Given the description of an element on the screen output the (x, y) to click on. 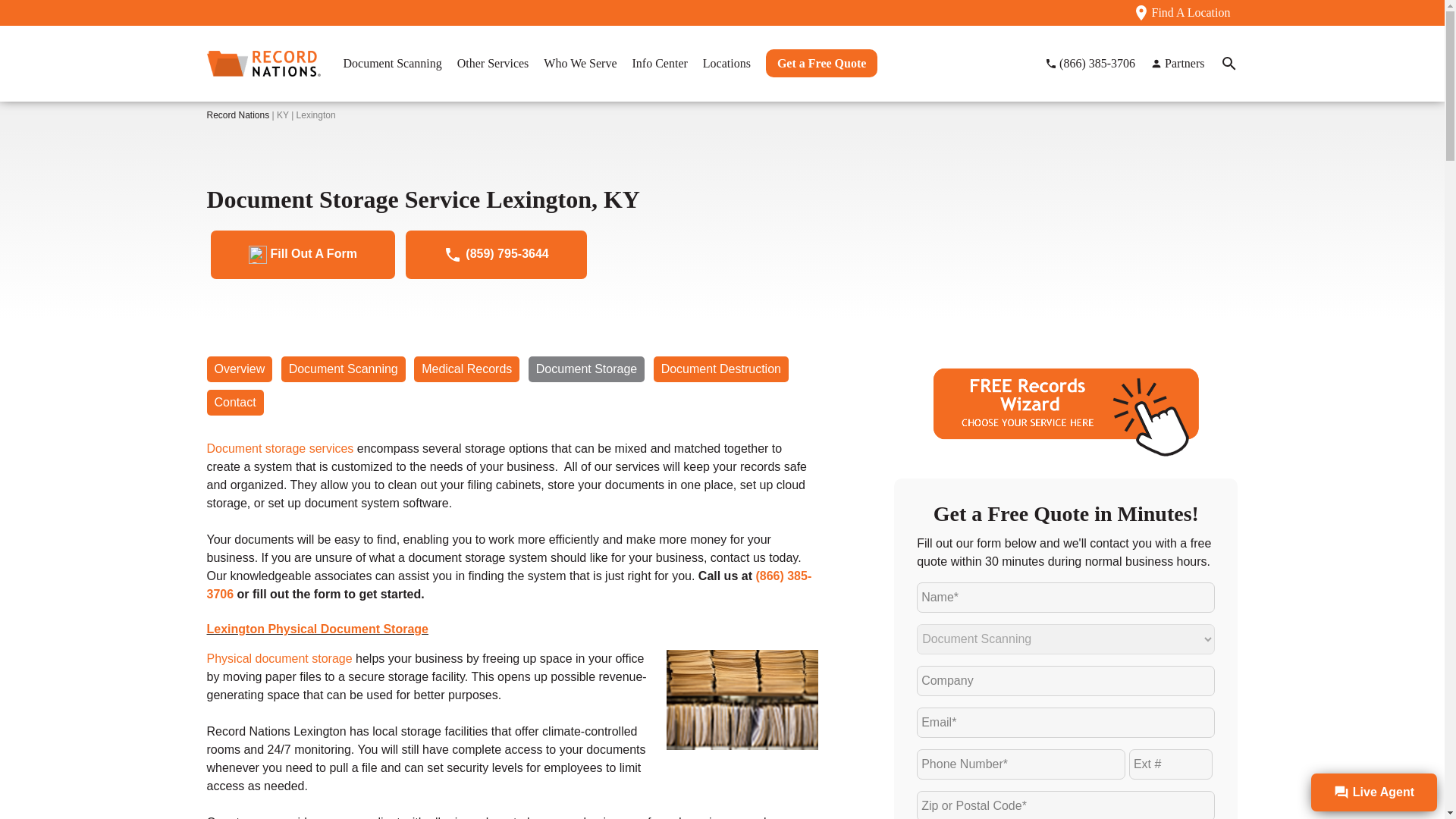
Who We Serve (579, 62)
Other Services (493, 62)
Document Scanning (391, 62)
